Given the description of an element on the screen output the (x, y) to click on. 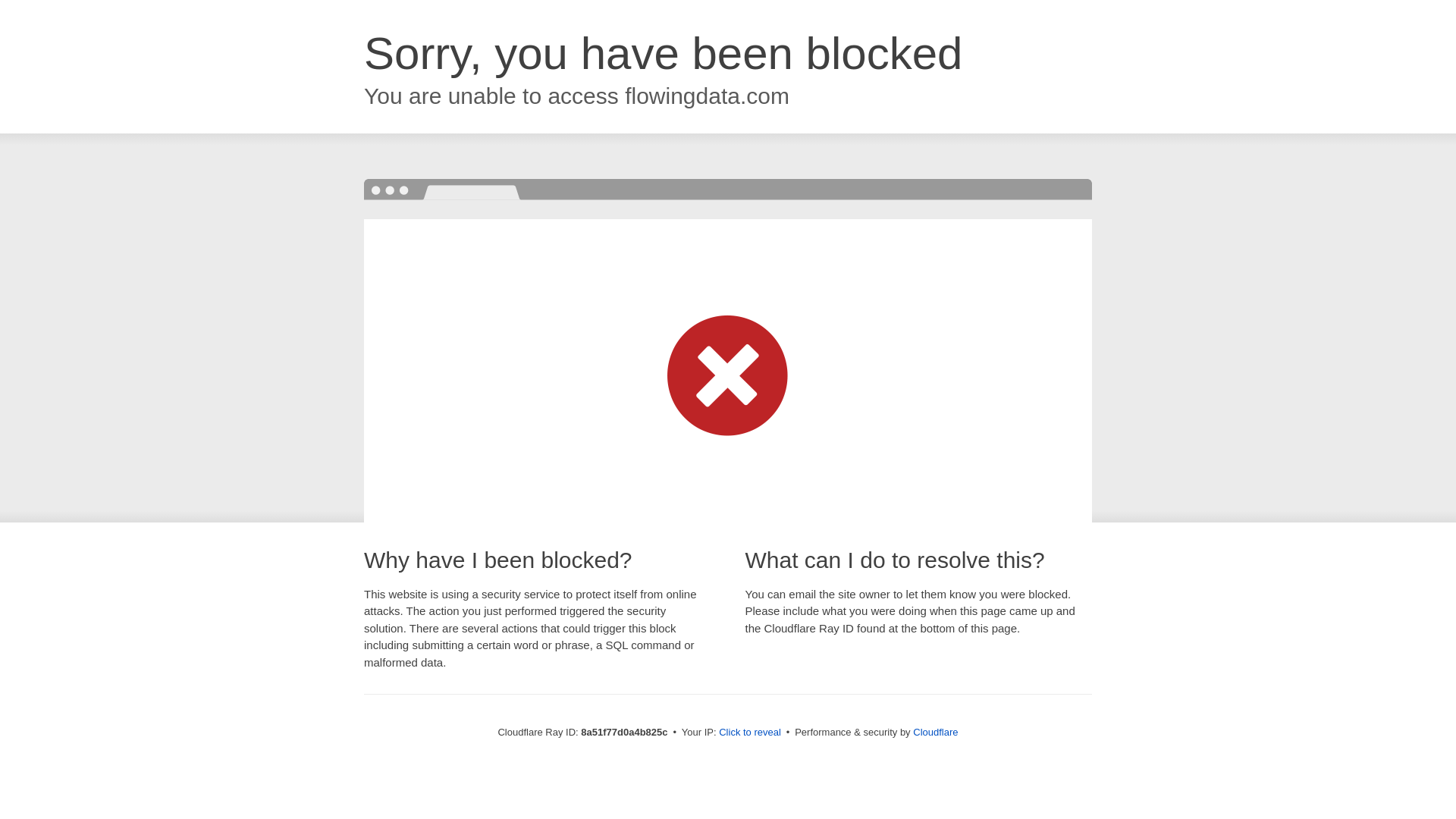
Click to reveal (749, 732)
Cloudflare (935, 731)
